Given the description of an element on the screen output the (x, y) to click on. 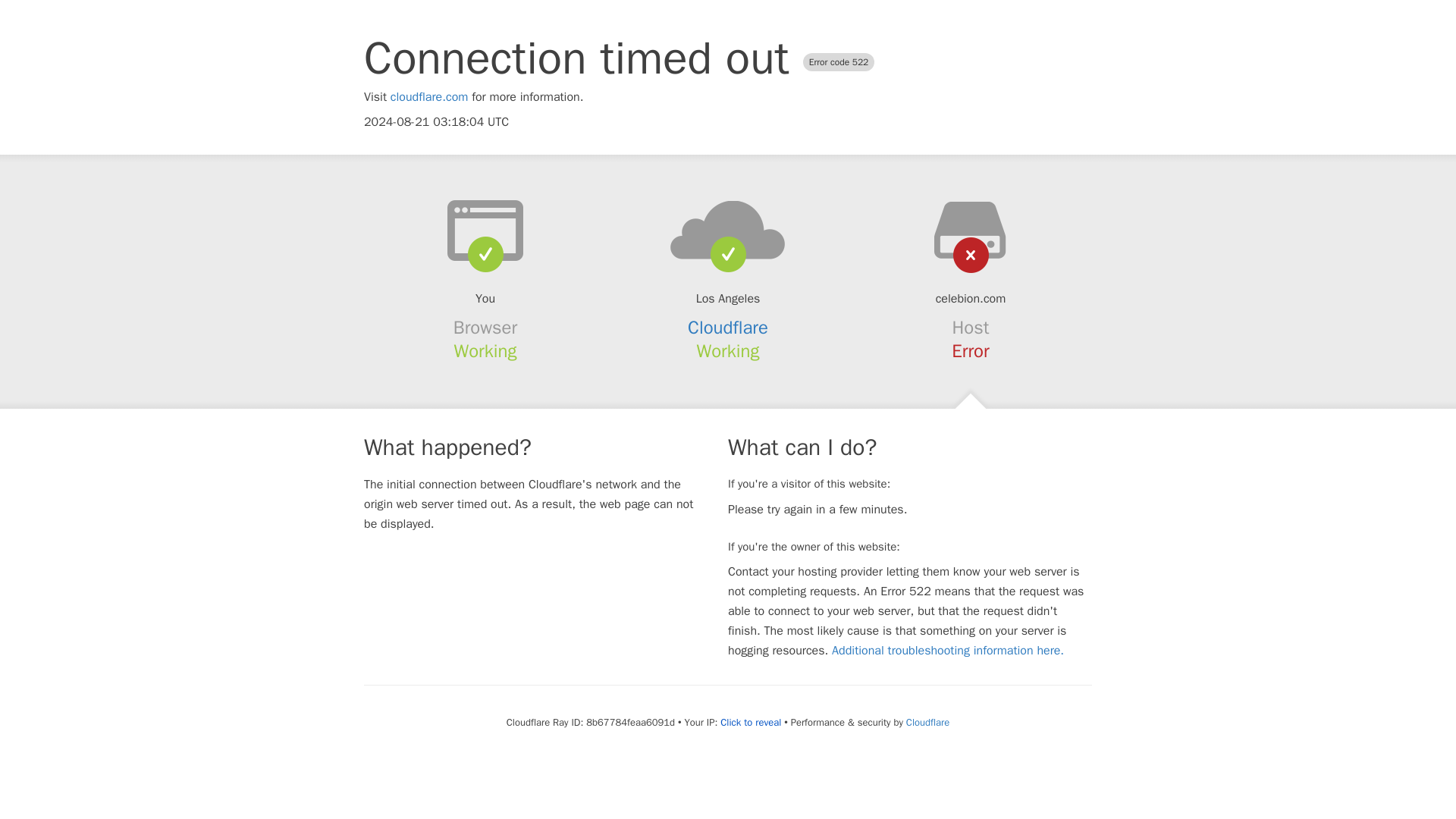
Cloudflare (727, 327)
Click to reveal (750, 722)
Additional troubleshooting information here. (947, 650)
Cloudflare (927, 721)
cloudflare.com (429, 96)
